Given the description of an element on the screen output the (x, y) to click on. 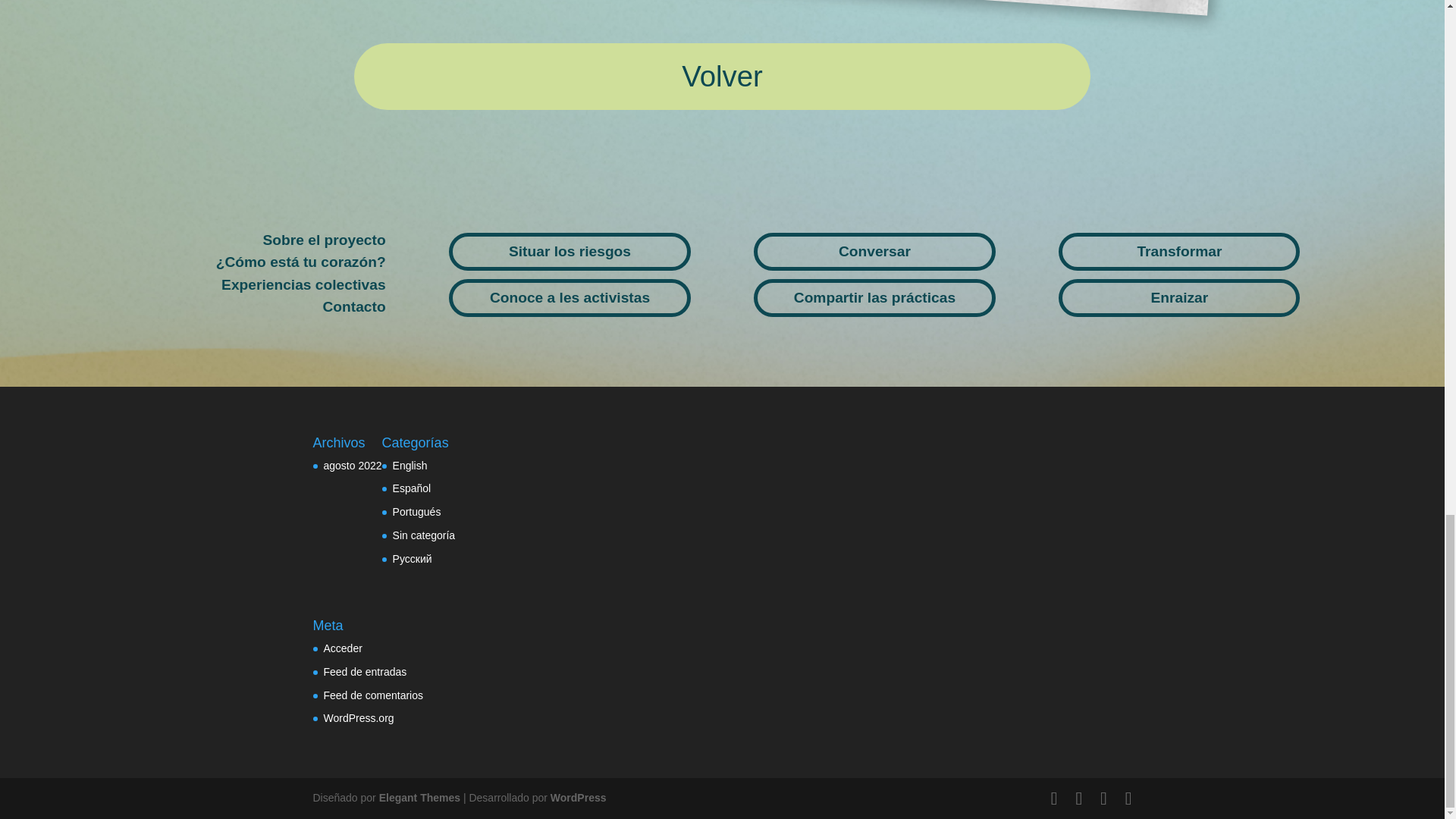
Volver (721, 76)
WordPress (578, 797)
English (410, 465)
Acceder (342, 648)
Feed de entradas (364, 671)
Elegant Themes (419, 797)
agosto 2022 (352, 465)
Premium WordPress Themes (419, 797)
Feed de comentarios (373, 695)
WordPress.org (358, 717)
